Given the description of an element on the screen output the (x, y) to click on. 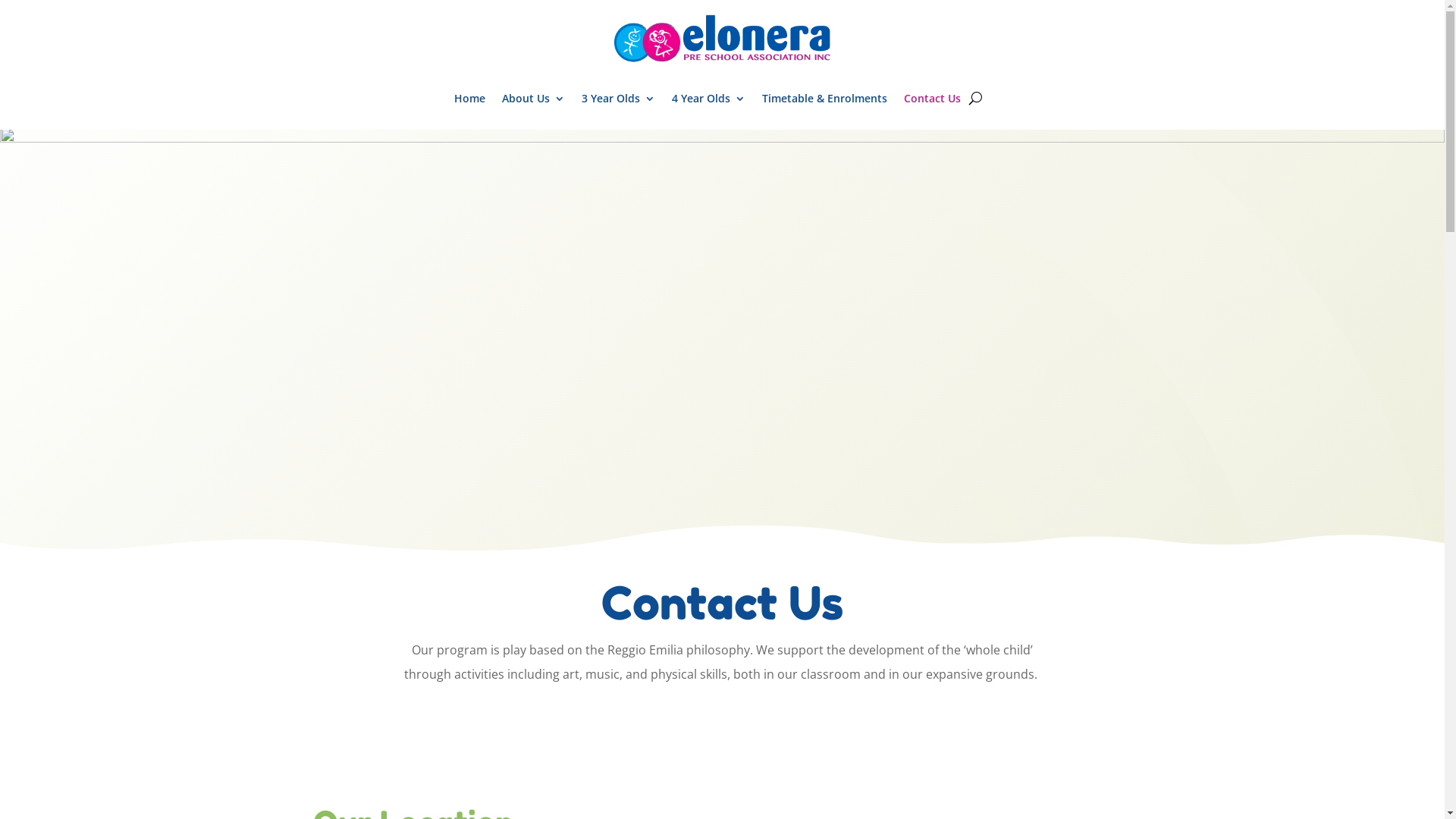
Footer - new building outside Element type: hover (722, 340)
3 Year Olds Element type: text (618, 98)
Contact Us Element type: text (931, 98)
About Us Element type: text (533, 98)
Timetable & Enrolments Element type: text (824, 98)
4 Year Olds Element type: text (708, 98)
Home Element type: text (469, 98)
